Given the description of an element on the screen output the (x, y) to click on. 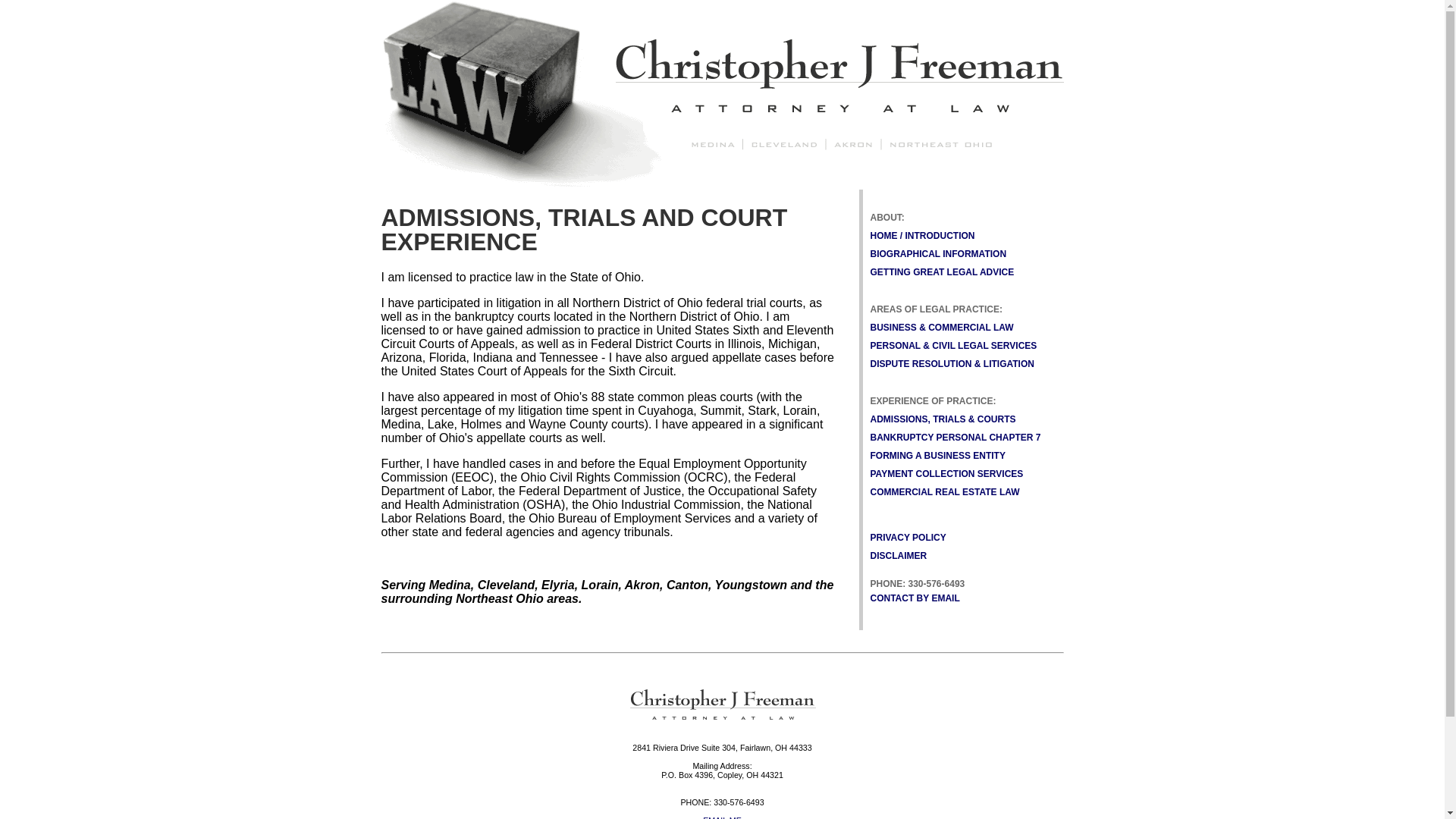
Incorporation, LLC, Partnership Business Legal Services (938, 455)
COMMERCIAL REAL ESTATE LAW (945, 491)
Disclaimer Regarding This Site (898, 555)
Privacy Policy (908, 537)
BANKRUPTCY PERSONAL CHAPTER 7 (955, 437)
Litigation Experience and Dispute Resolution (951, 363)
FORMING A BUSINESS ENTITY (938, 455)
CONTACT BY EMAIL (914, 597)
Civil and Personal Law Practice (953, 345)
Christopher J. Freeman Legal Services (721, 182)
Court Room Experience Throughout Ohio (943, 419)
BIOGRAPHICAL INFORMATION (938, 253)
PAYMENT COLLECTION SERVICES (946, 473)
DISCLAIMER (898, 555)
Getting Great Legal Advice (942, 271)
